Given the description of an element on the screen output the (x, y) to click on. 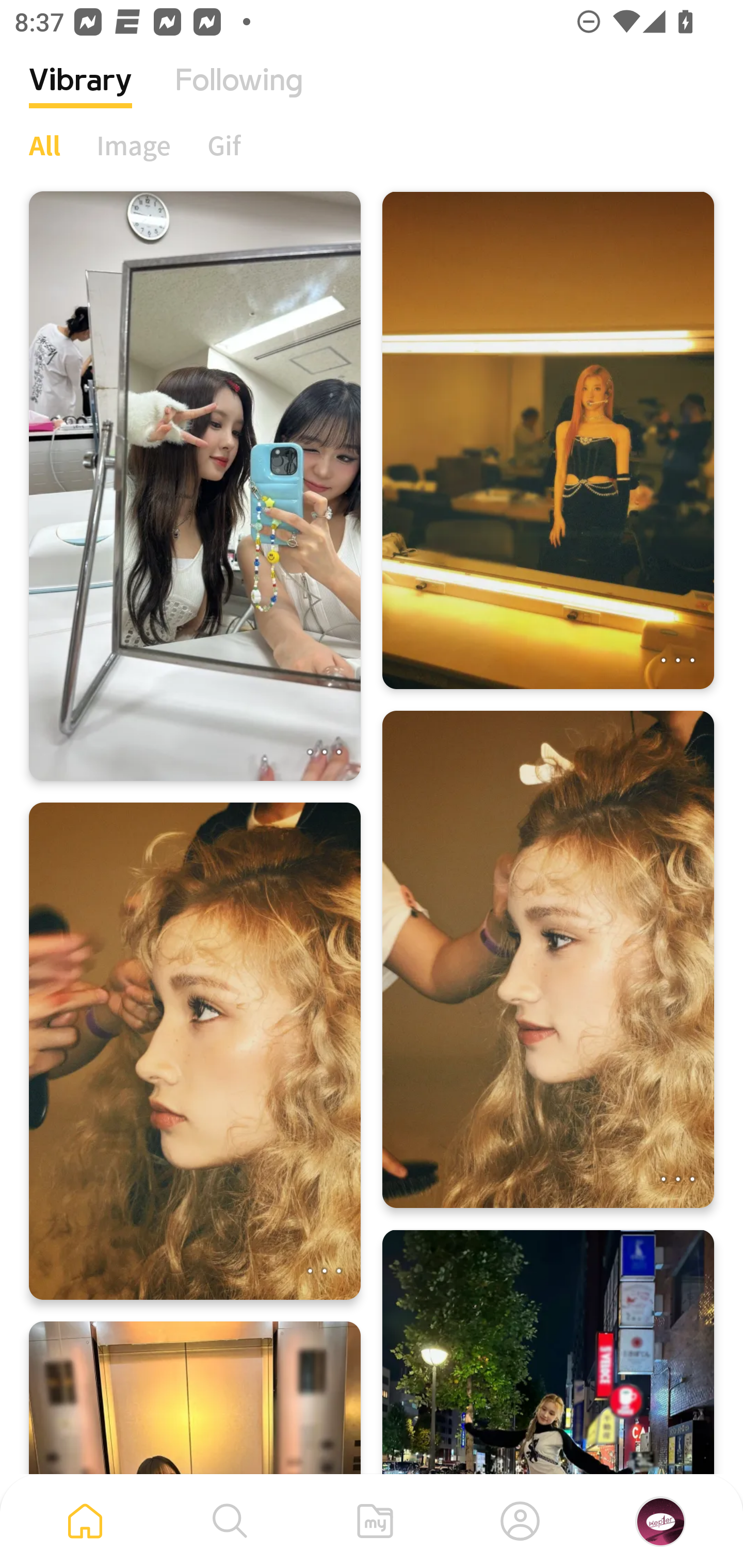
Vibrary (80, 95)
Following (239, 95)
All (44, 145)
Image (133, 145)
Gif (223, 145)
